Given the description of an element on the screen output the (x, y) to click on. 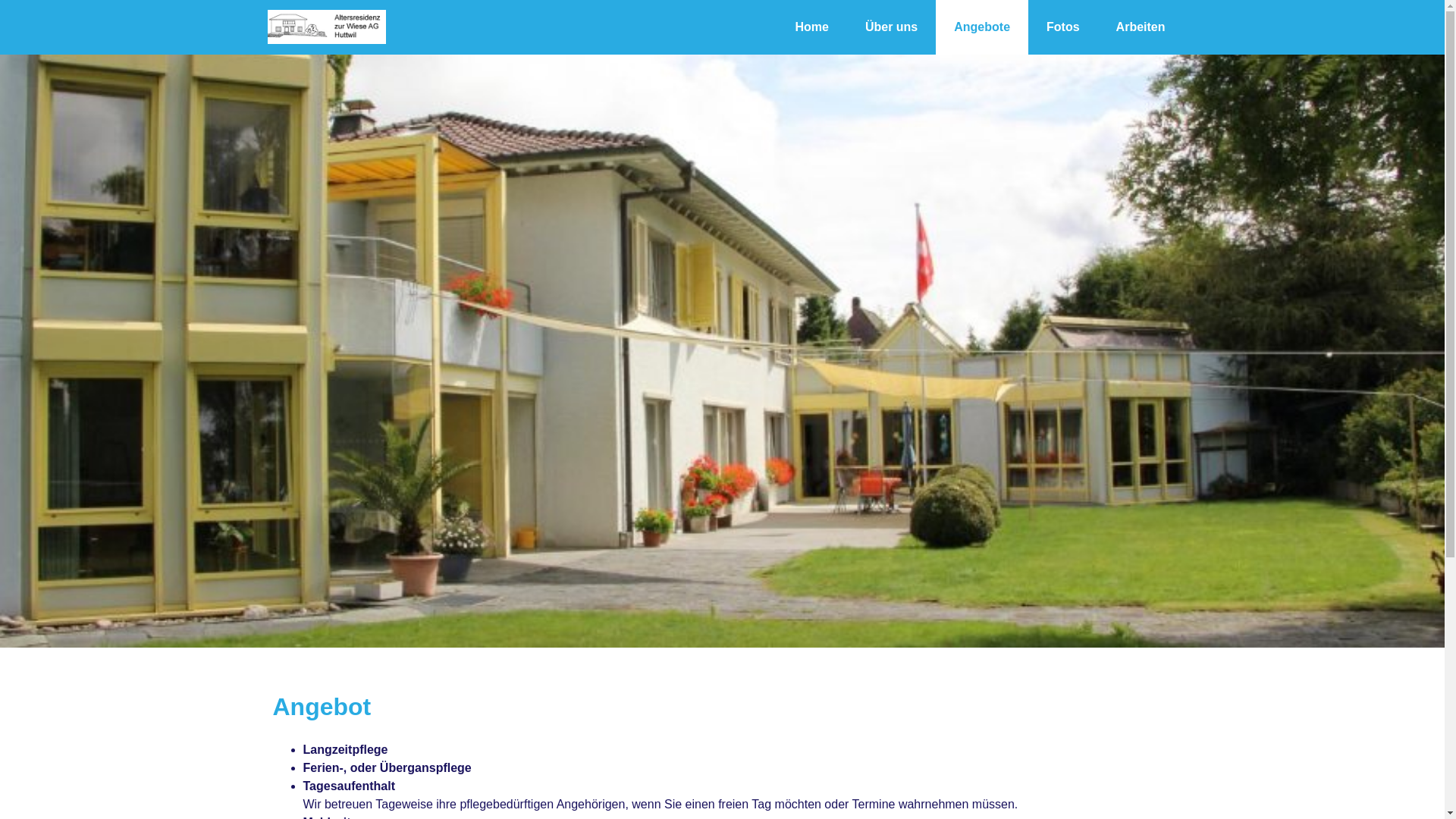
Arbeiten Element type: text (1140, 27)
Angebote Element type: text (981, 27)
Fotos Element type: text (1063, 27)
Home Element type: text (811, 27)
